Given the description of an element on the screen output the (x, y) to click on. 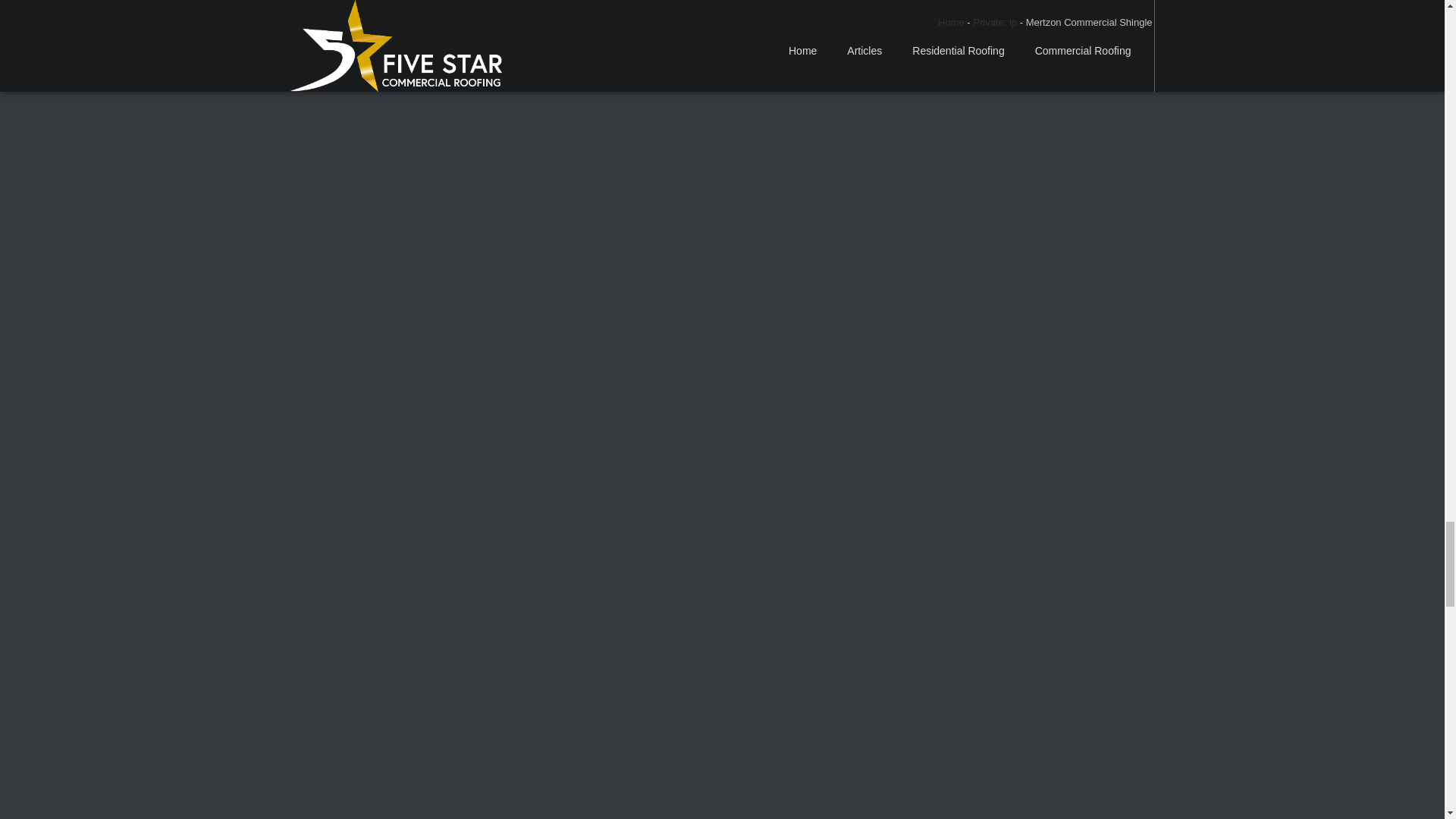
Mertzon Commercial Shingle Roofs 5 (685, 748)
